Given the description of an element on the screen output the (x, y) to click on. 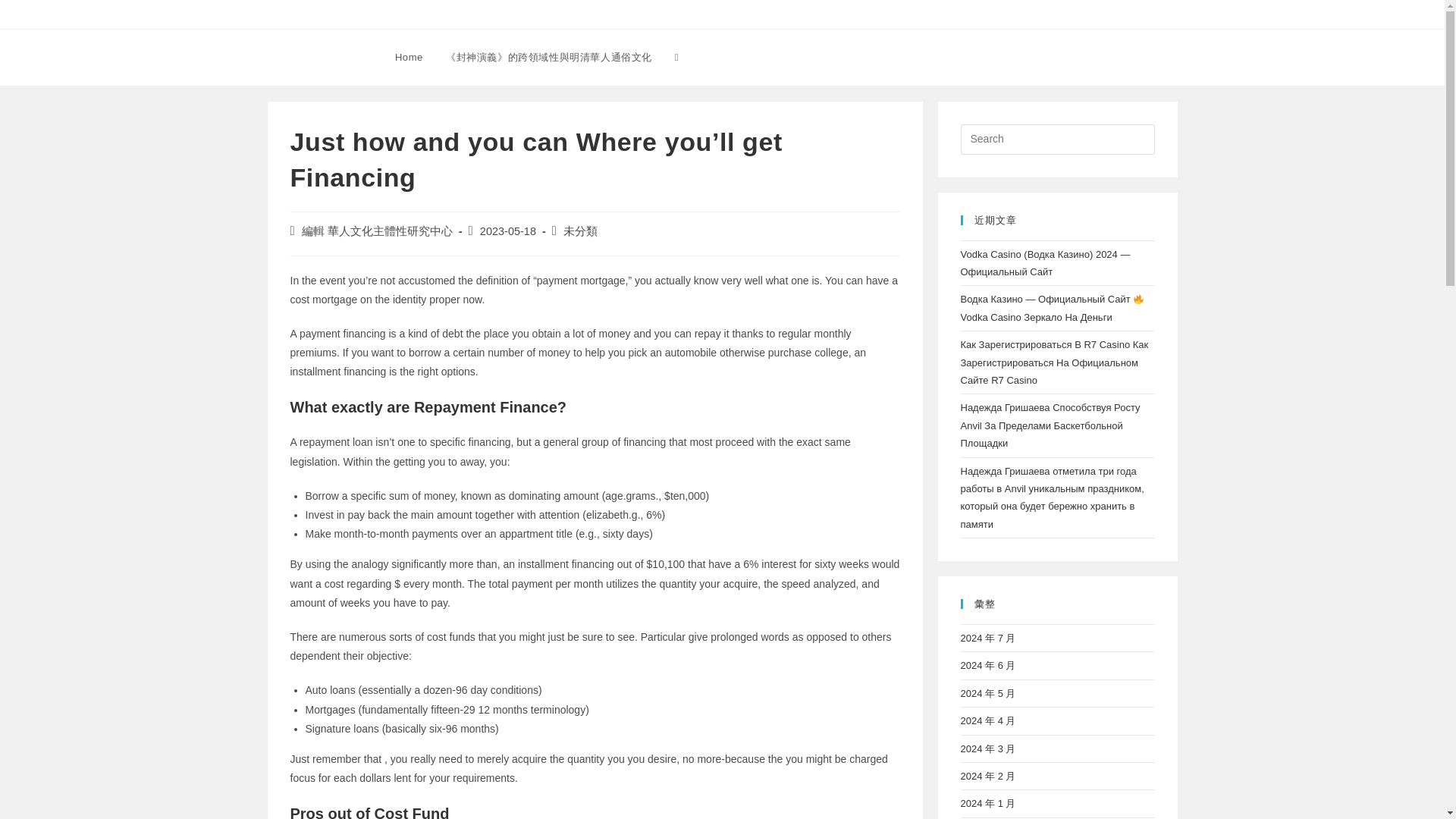
Barbara Witt (317, 56)
Home (408, 57)
